Given the description of an element on the screen output the (x, y) to click on. 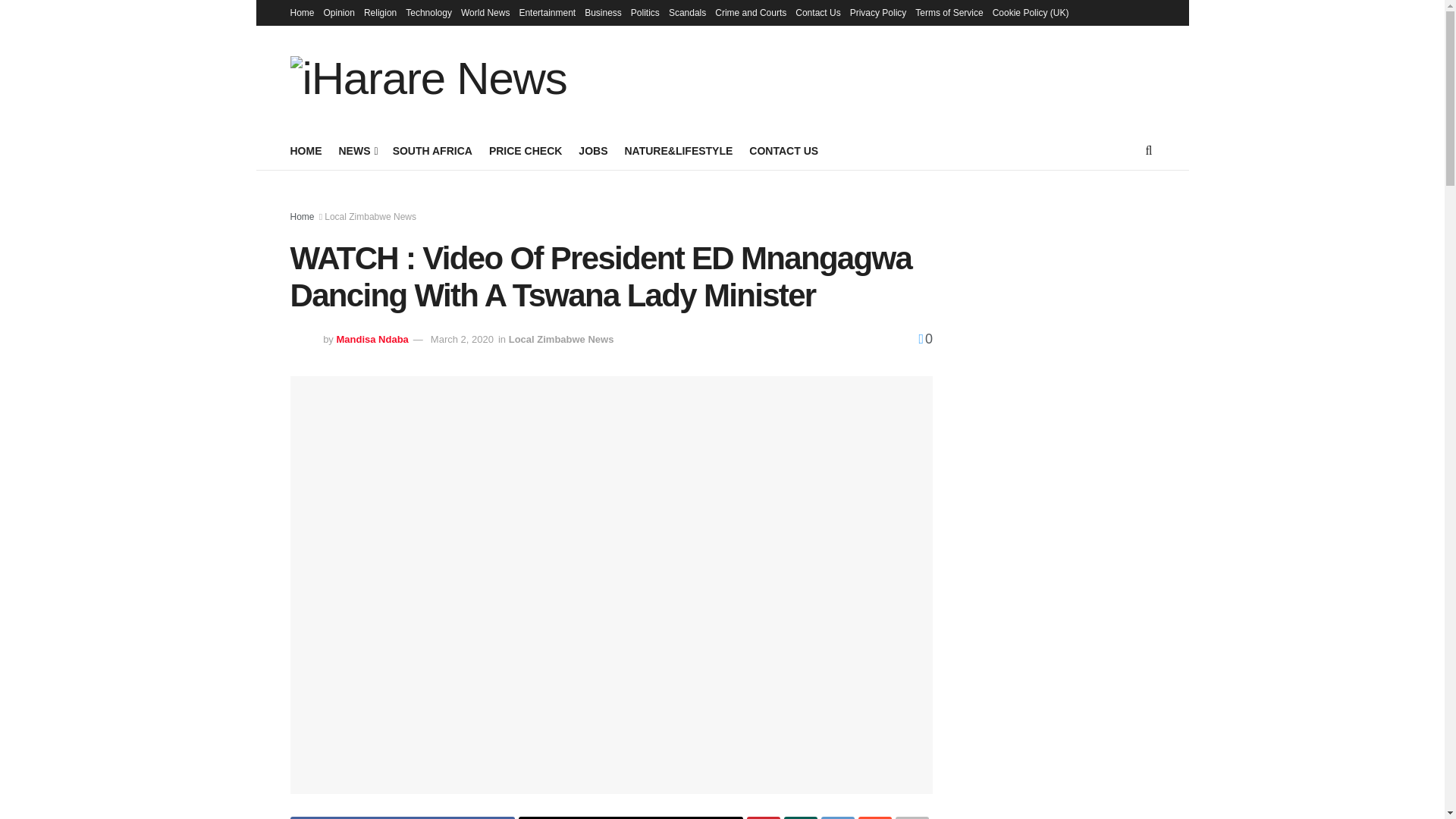
Terms of Service (948, 12)
Religion (380, 12)
Technology (428, 12)
Contact Us (817, 12)
NEWS (356, 150)
HOME (305, 150)
Entertainment (546, 12)
JOBS (592, 150)
Privacy Policy (878, 12)
World News (485, 12)
